Given the description of an element on the screen output the (x, y) to click on. 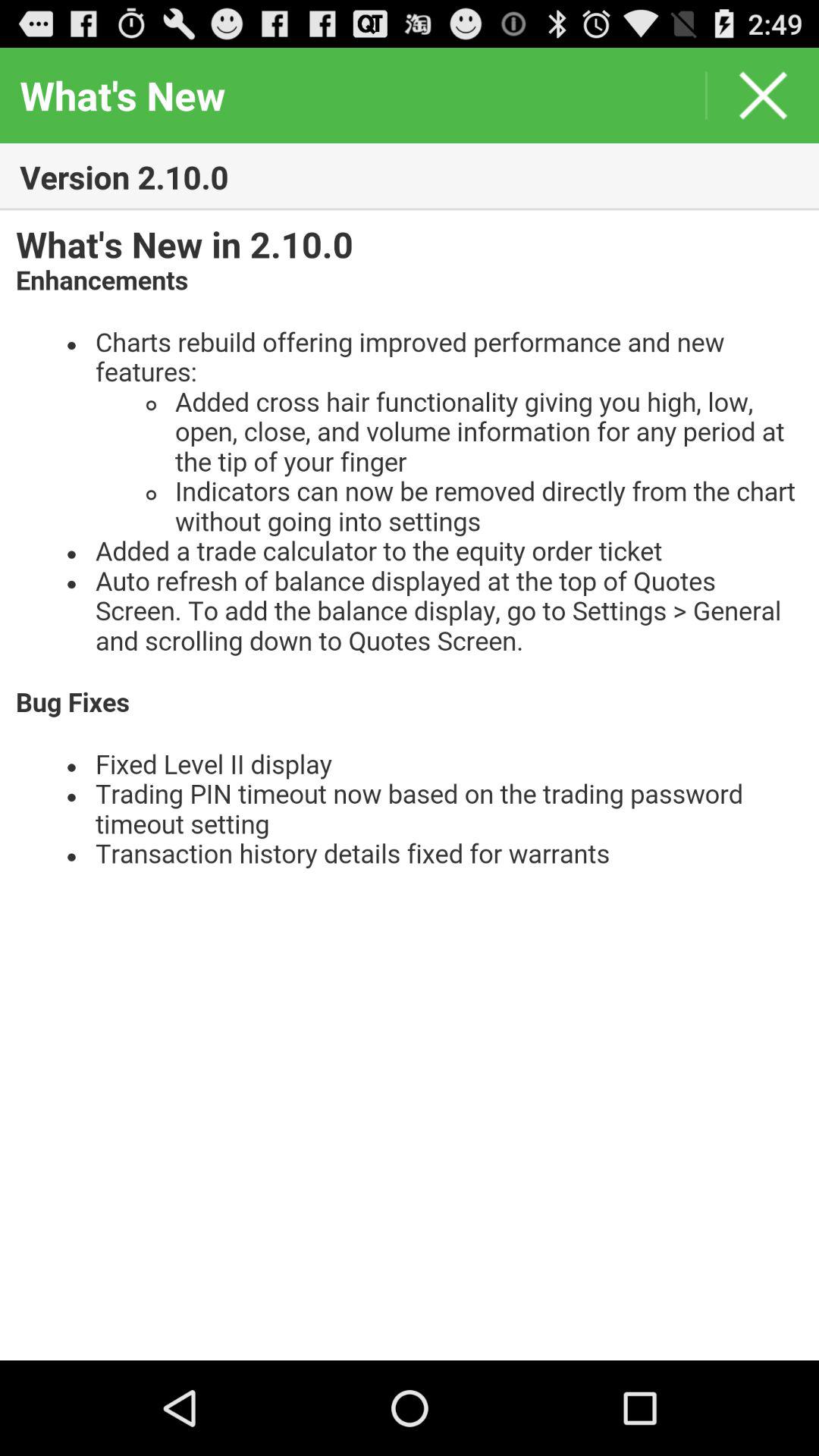
coles button (763, 95)
